Given the description of an element on the screen output the (x, y) to click on. 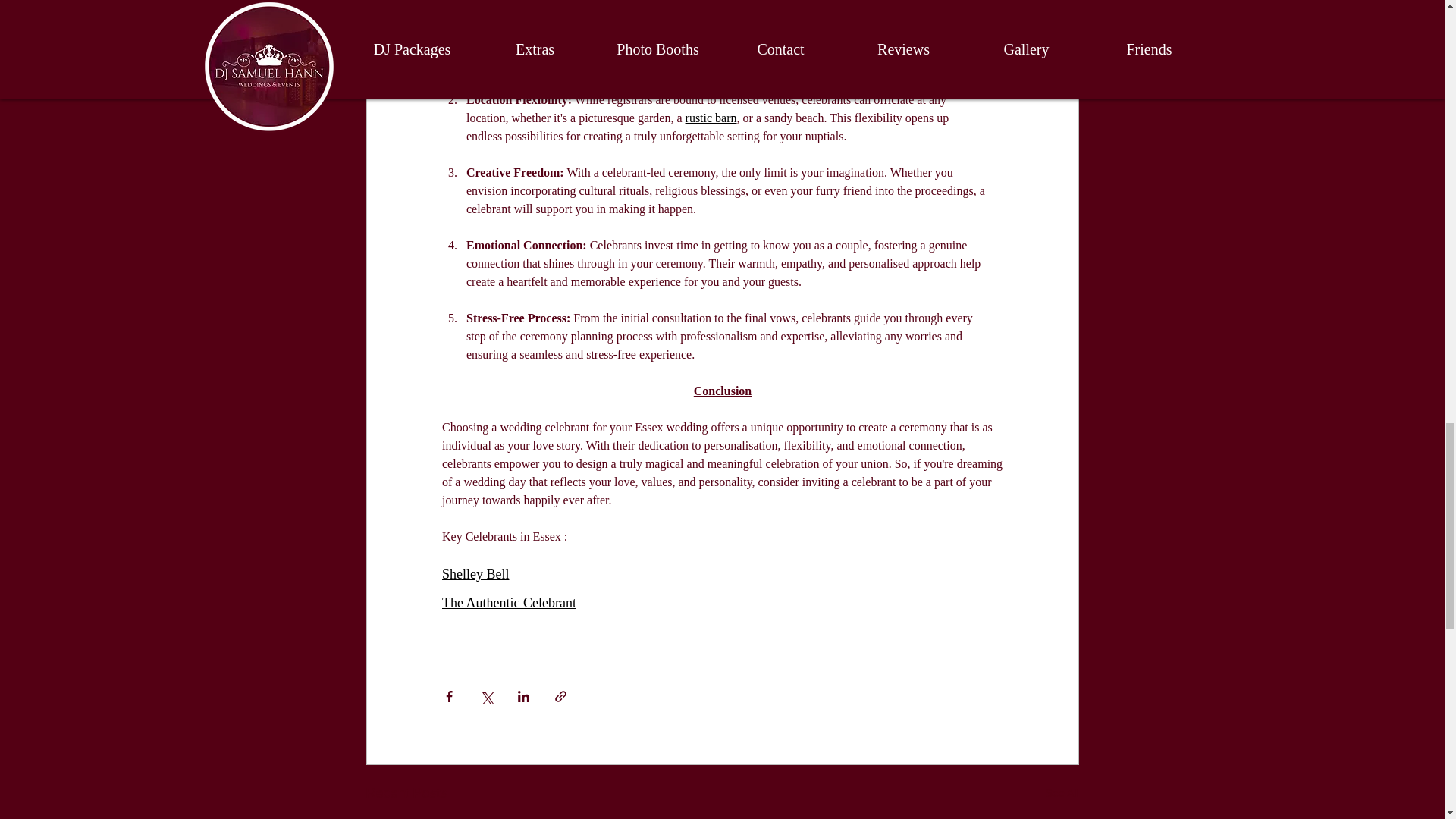
The Authentic Celebrant (508, 599)
Shelley Bell (474, 574)
rustic barn (710, 117)
See All (1061, 793)
